Given the description of an element on the screen output the (x, y) to click on. 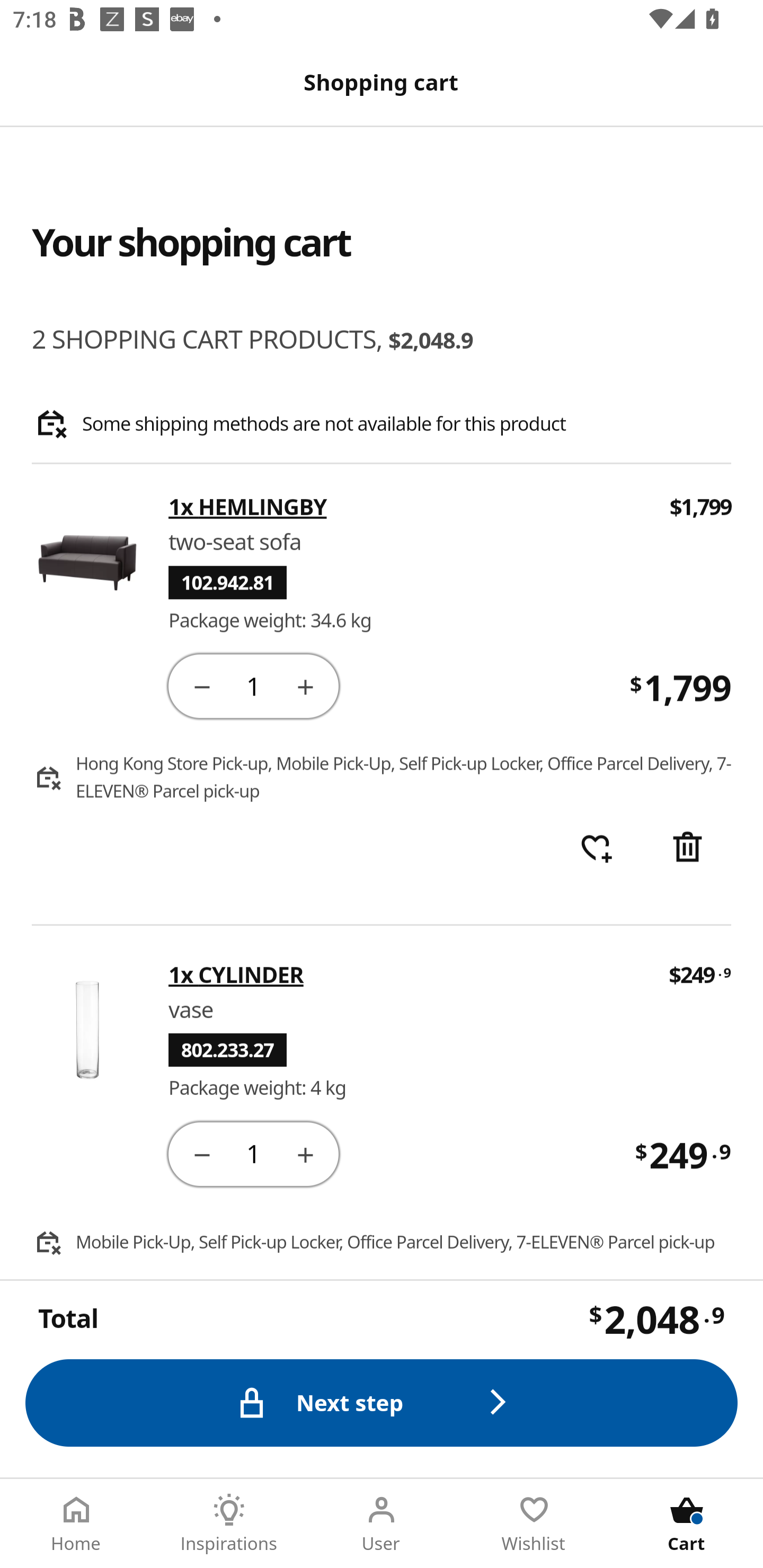
1x  HEMLINGBY 1x  HEMLINGBY (406, 507)
1 (253, 685)
 (201, 685)
 (305, 685)
  (595, 848)
 (686, 848)
1x  CYLINDER 1x  CYLINDER (405, 974)
1 (253, 1153)
 (201, 1153)
 (305, 1153)
Home
Tab 1 of 5 (76, 1522)
Inspirations
Tab 2 of 5 (228, 1522)
User
Tab 3 of 5 (381, 1522)
Wishlist
Tab 4 of 5 (533, 1522)
Cart
Tab 5 of 5 (686, 1522)
